Given the description of an element on the screen output the (x, y) to click on. 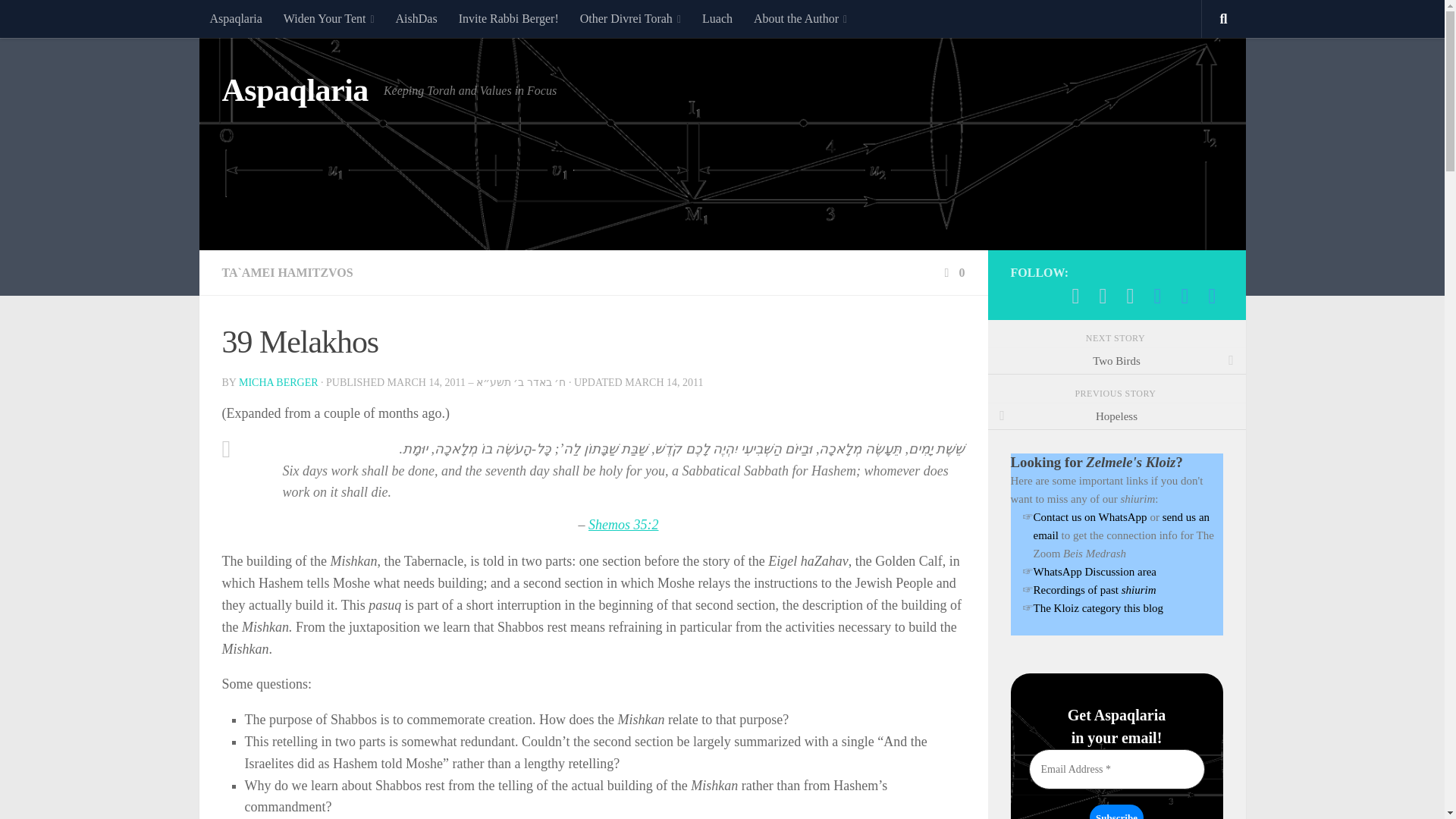
Widen Your Tent (329, 18)
Email! (1102, 296)
Luach (716, 18)
Skip to content (59, 20)
Invite Rabbi Berger! (508, 18)
Posts by Micha Berger (278, 382)
Aspaqlaria (235, 18)
Subscribe (1115, 811)
About the Author (799, 18)
WhatsApp me (1075, 296)
